Given the description of an element on the screen output the (x, y) to click on. 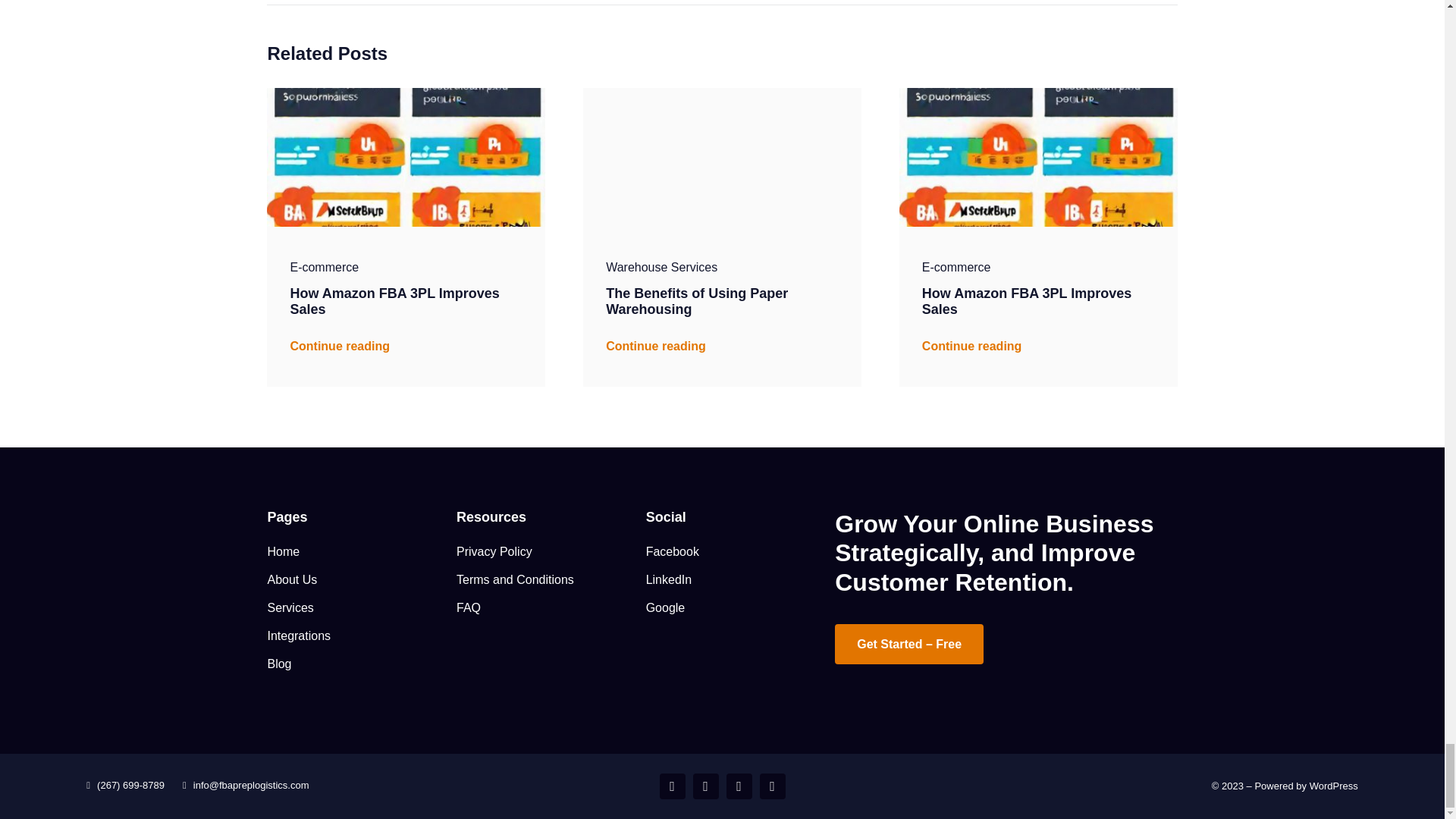
E-commerce (323, 267)
Warehouse Services (661, 267)
E-commerce (956, 267)
Email (739, 786)
E-commerce (323, 267)
Facebook (672, 786)
Phone (773, 786)
LinkedIn (706, 786)
